Given the description of an element on the screen output the (x, y) to click on. 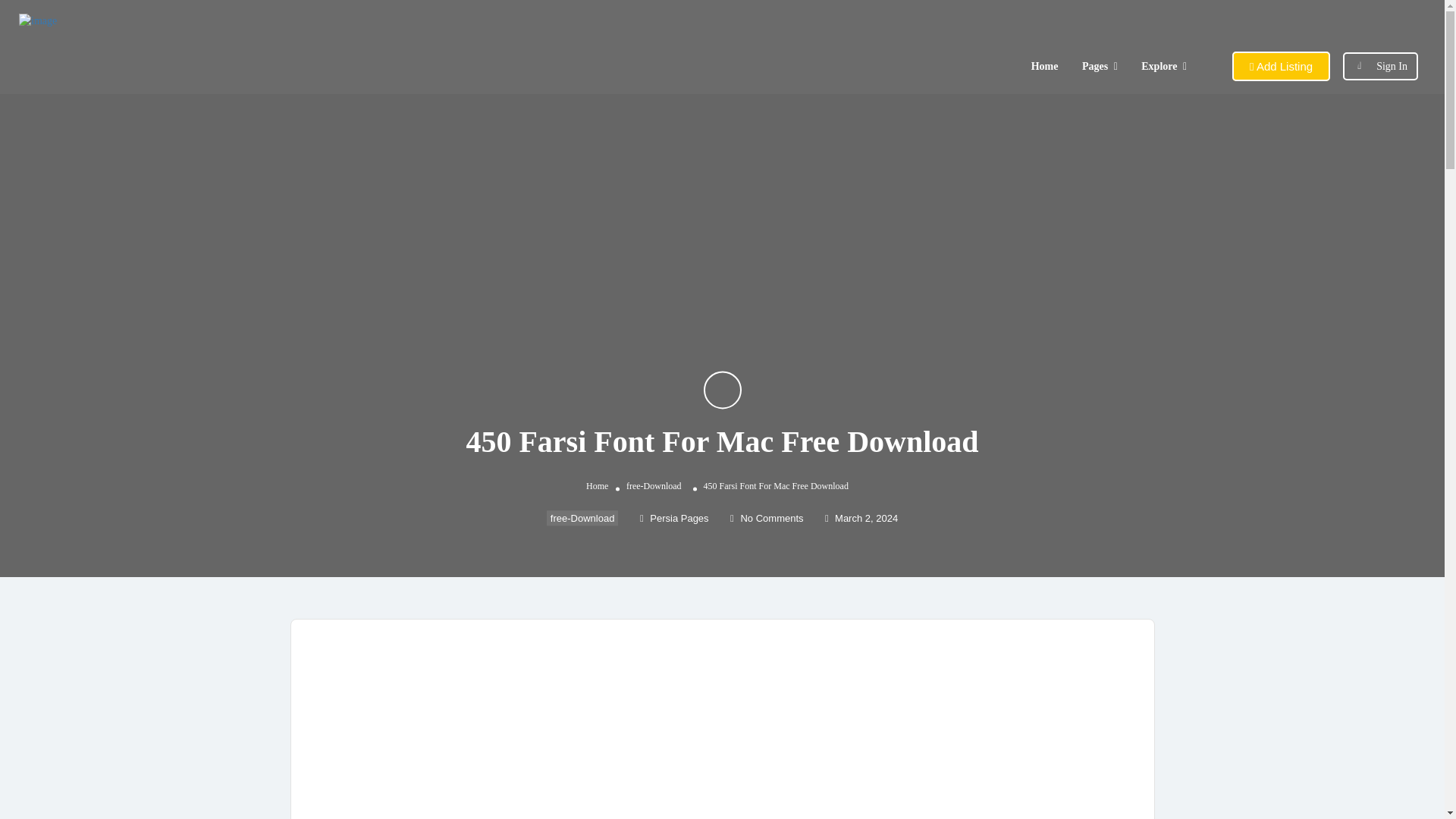
Pages (1094, 66)
Persia Pages (674, 518)
Sign In (1391, 65)
free-Download (582, 517)
free-Download (653, 485)
Home (597, 485)
Explore (1158, 66)
Add Listing (1280, 66)
Home (1044, 66)
